Given the description of an element on the screen output the (x, y) to click on. 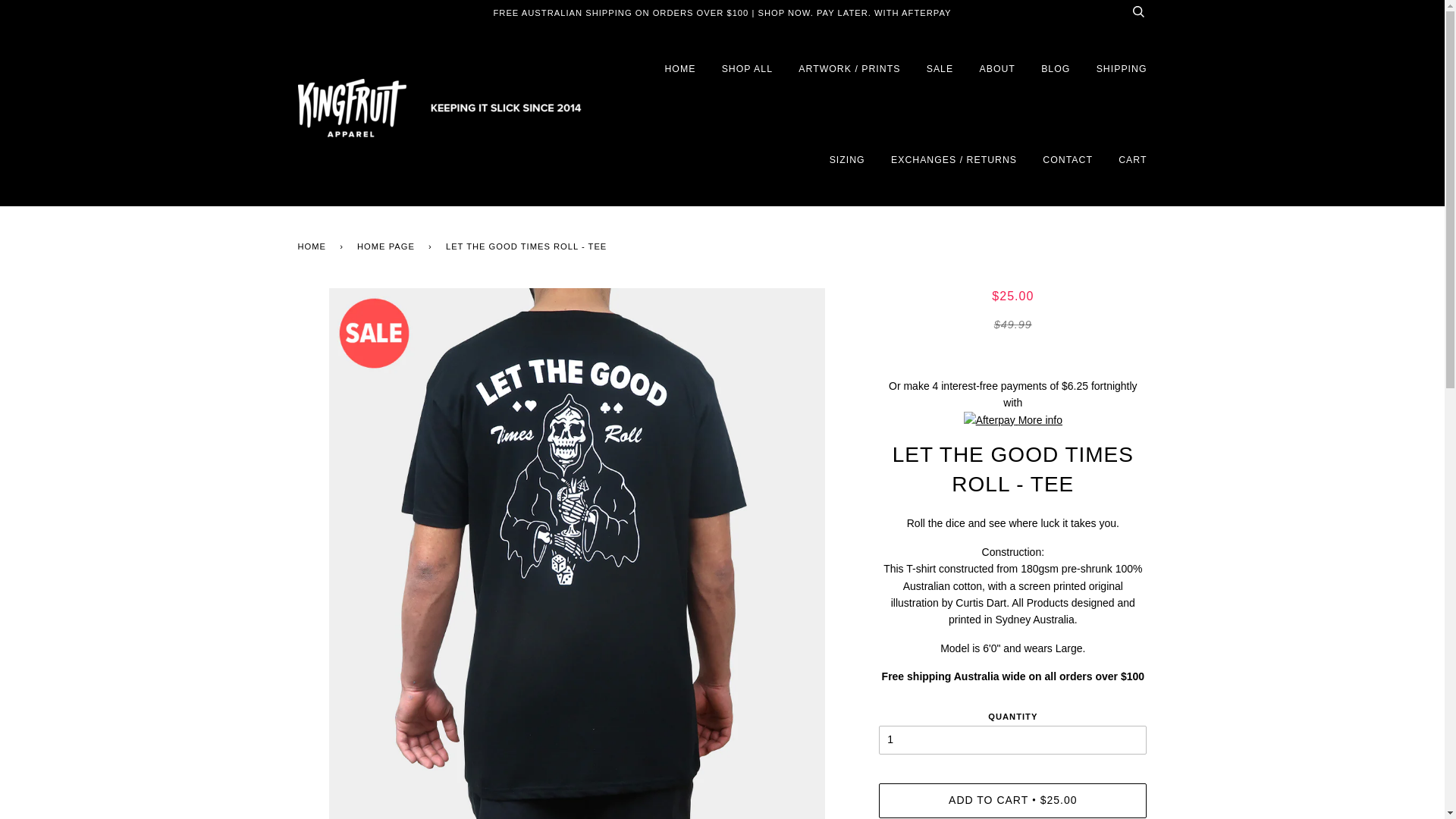
CONTACT Element type: text (1067, 160)
BLOG Element type: text (1055, 69)
ABOUT Element type: text (996, 69)
SHOP ALL Element type: text (746, 69)
More info Element type: text (1012, 419)
EXCHANGES / RETURNS Element type: text (953, 160)
HOME Element type: text (679, 69)
CART Element type: text (1132, 160)
HOME Element type: text (314, 247)
SALE Element type: text (939, 69)
ARTWORK / PRINTS Element type: text (849, 69)
SHIPPING Element type: text (1121, 69)
SIZING Element type: text (847, 160)
HOME PAGE Element type: text (388, 247)
